Given the description of an element on the screen output the (x, y) to click on. 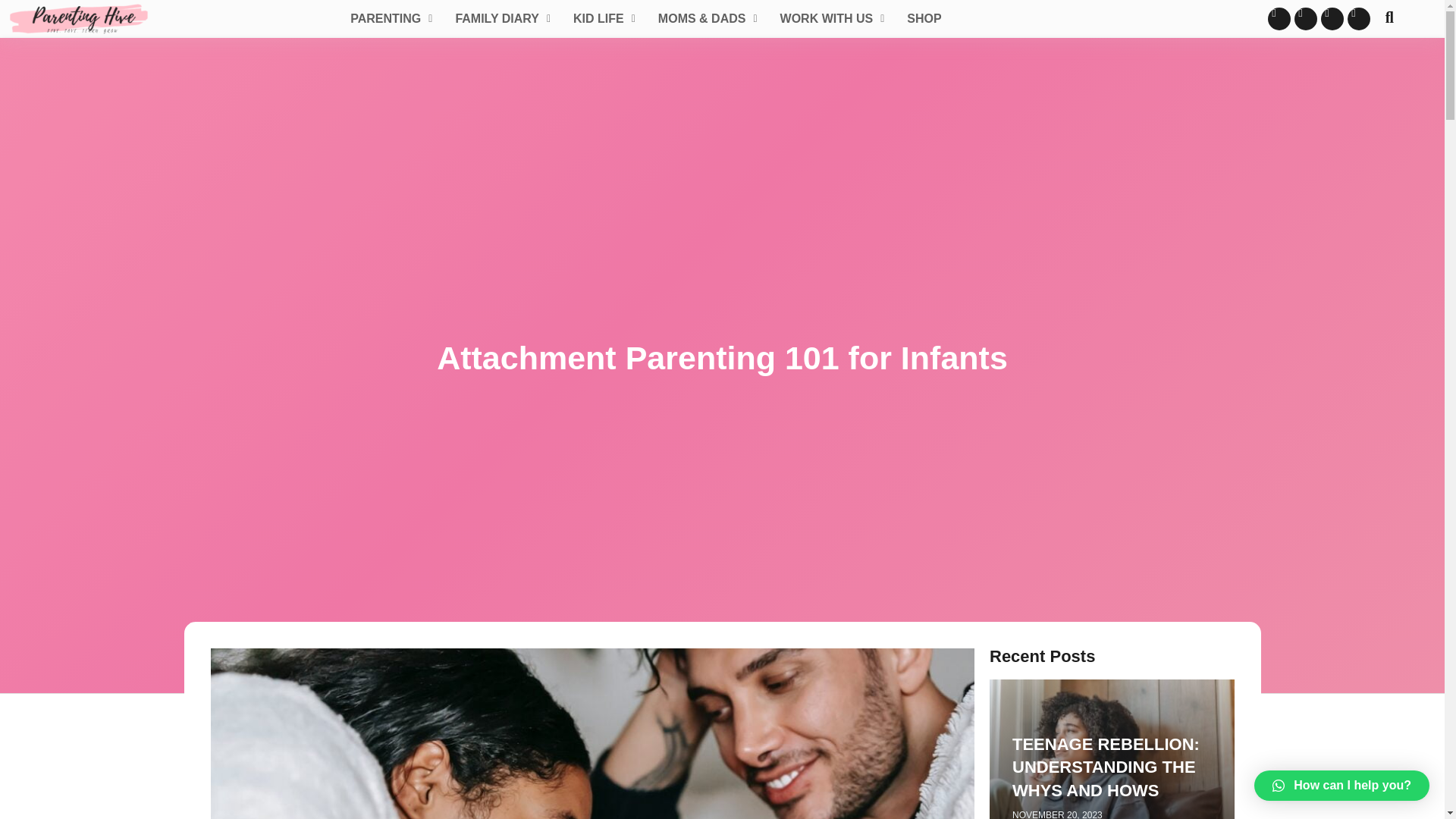
FAMILY DIARY (503, 18)
KID LIFE (604, 18)
WORK WITH US (832, 18)
TEENAGE REBELLION: UNDERSTANDING THE WHYS AND HOWS (1105, 767)
SHOP (923, 18)
PARENTING (391, 18)
Teenage Rebellion: Understanding the Whys and Hows (1105, 767)
